Given the description of an element on the screen output the (x, y) to click on. 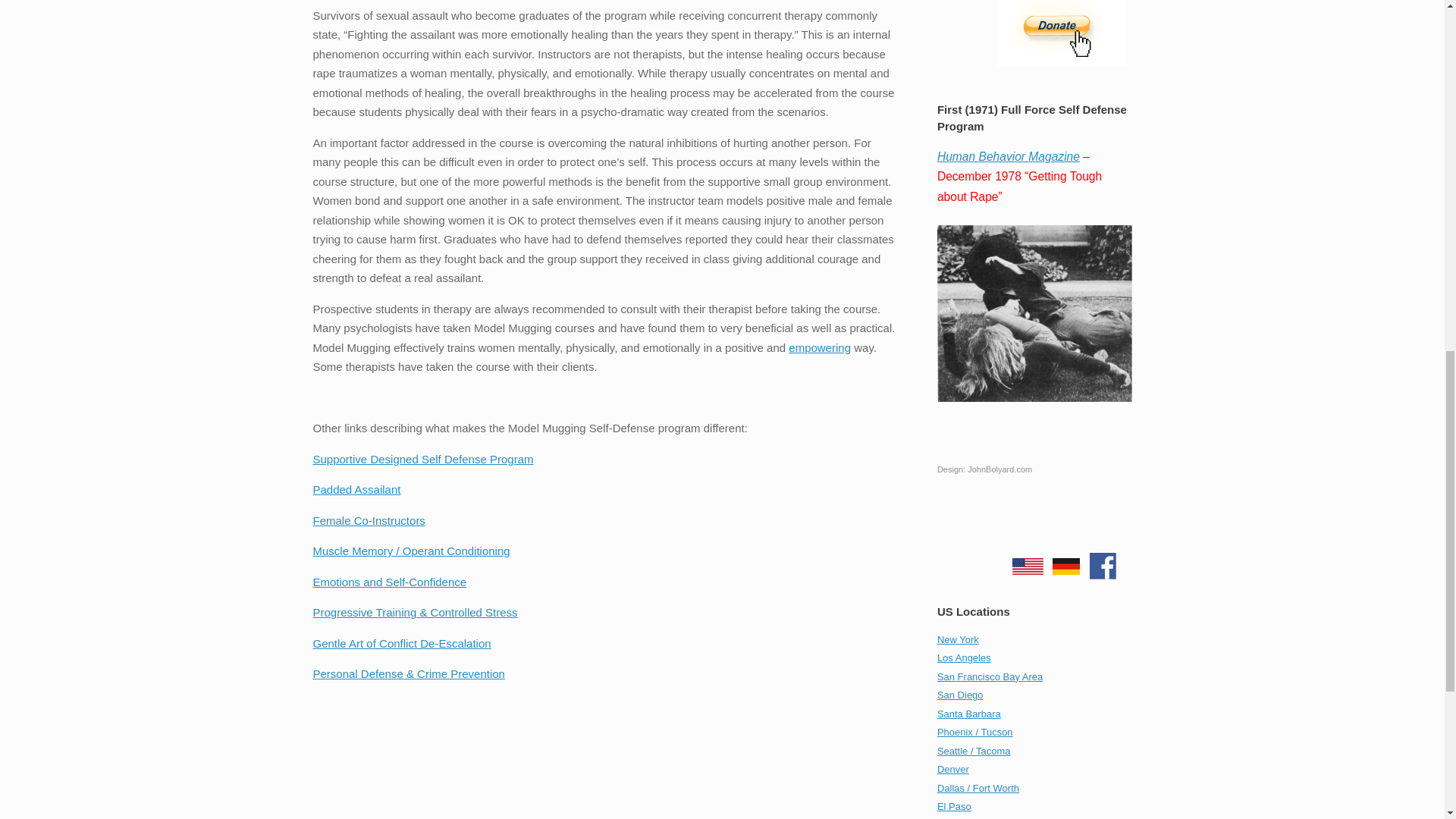
Feminine Empowerment (819, 347)
Emotions and Self-Confidence (389, 581)
Padded Assailant (356, 489)
Progressive Self Defense Training (414, 612)
Female Co-Instructors (369, 520)
Supportive Designed Self Defense Program (422, 459)
